Given the description of an element on the screen output the (x, y) to click on. 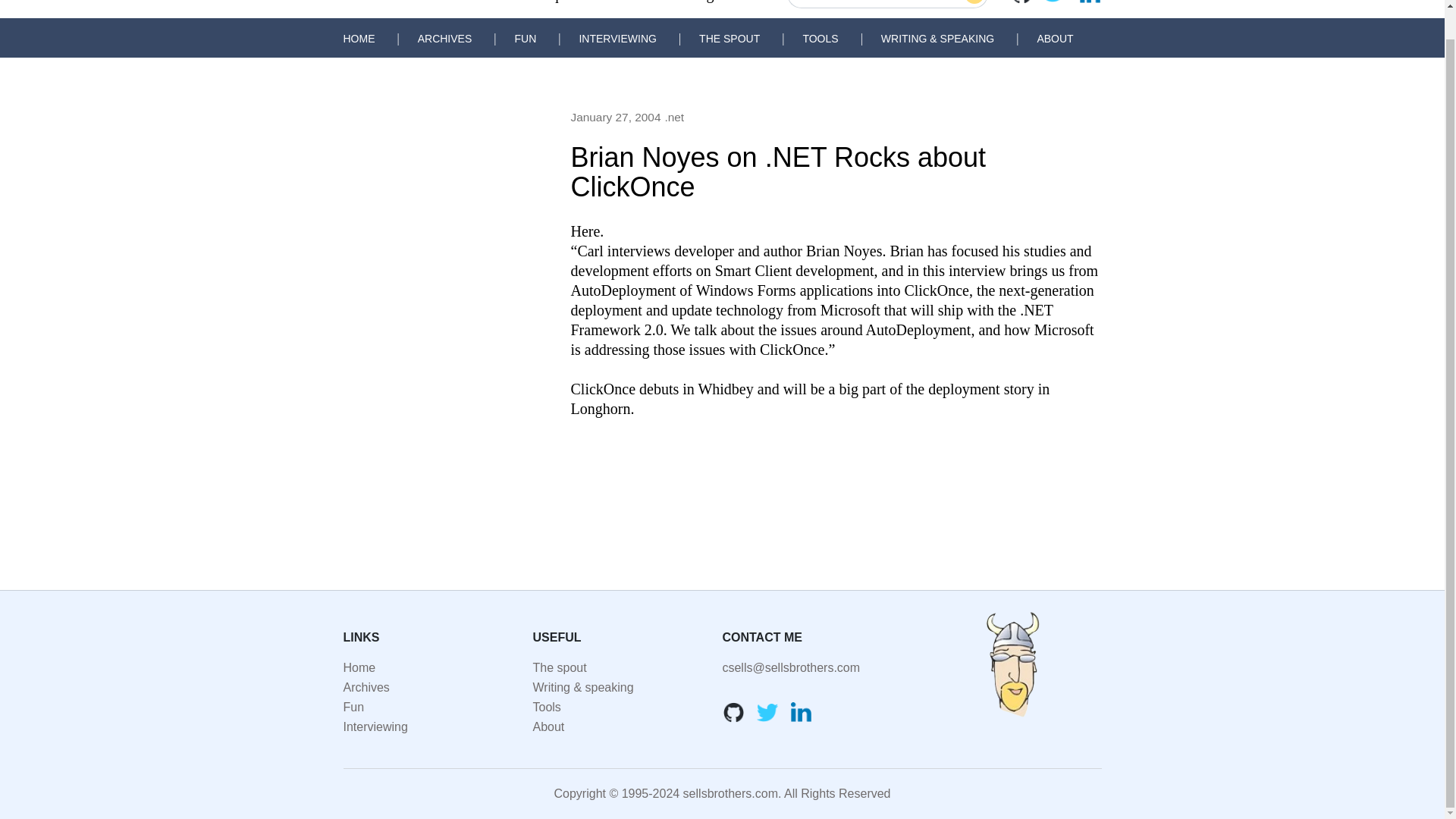
Twitter (1056, 2)
LinkedIn (1089, 2)
THE SPOUT (729, 38)
.net (673, 117)
GitHub (733, 712)
Tools (546, 707)
Home (358, 667)
HOME (358, 38)
FUN (524, 38)
Twitter (766, 712)
January 27, 2004 (615, 117)
LinkedIn (800, 712)
ARCHIVES (444, 38)
Here (584, 230)
Fun (353, 707)
